Given the description of an element on the screen output the (x, y) to click on. 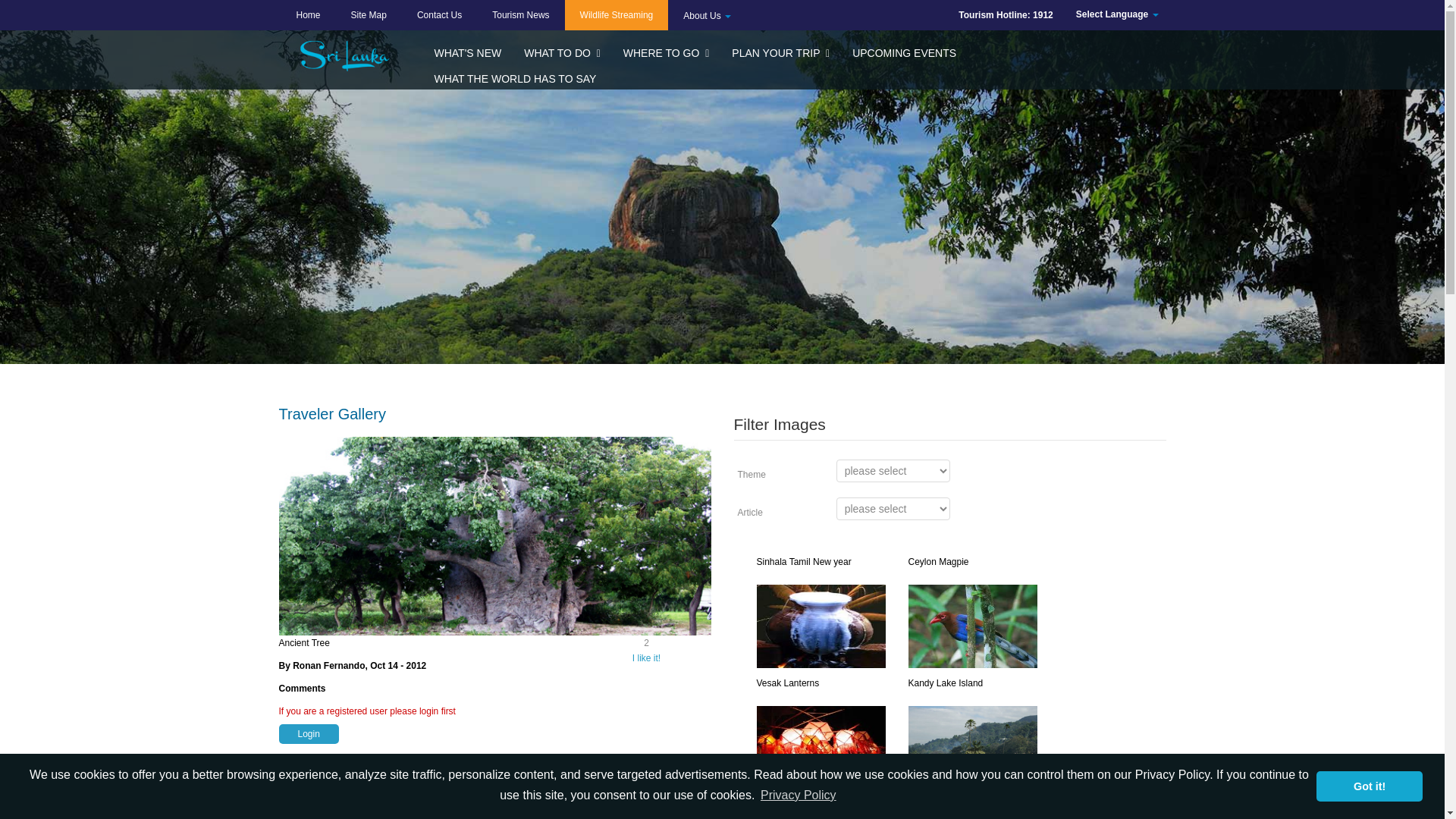
Site Map (368, 15)
Privacy Policy (798, 794)
Wildlife Streaming (616, 15)
Tourism News (520, 15)
Home (307, 15)
Contact Us (439, 15)
About Us (706, 15)
Select Language (1117, 15)
Got it! (1369, 786)
